Given the description of an element on the screen output the (x, y) to click on. 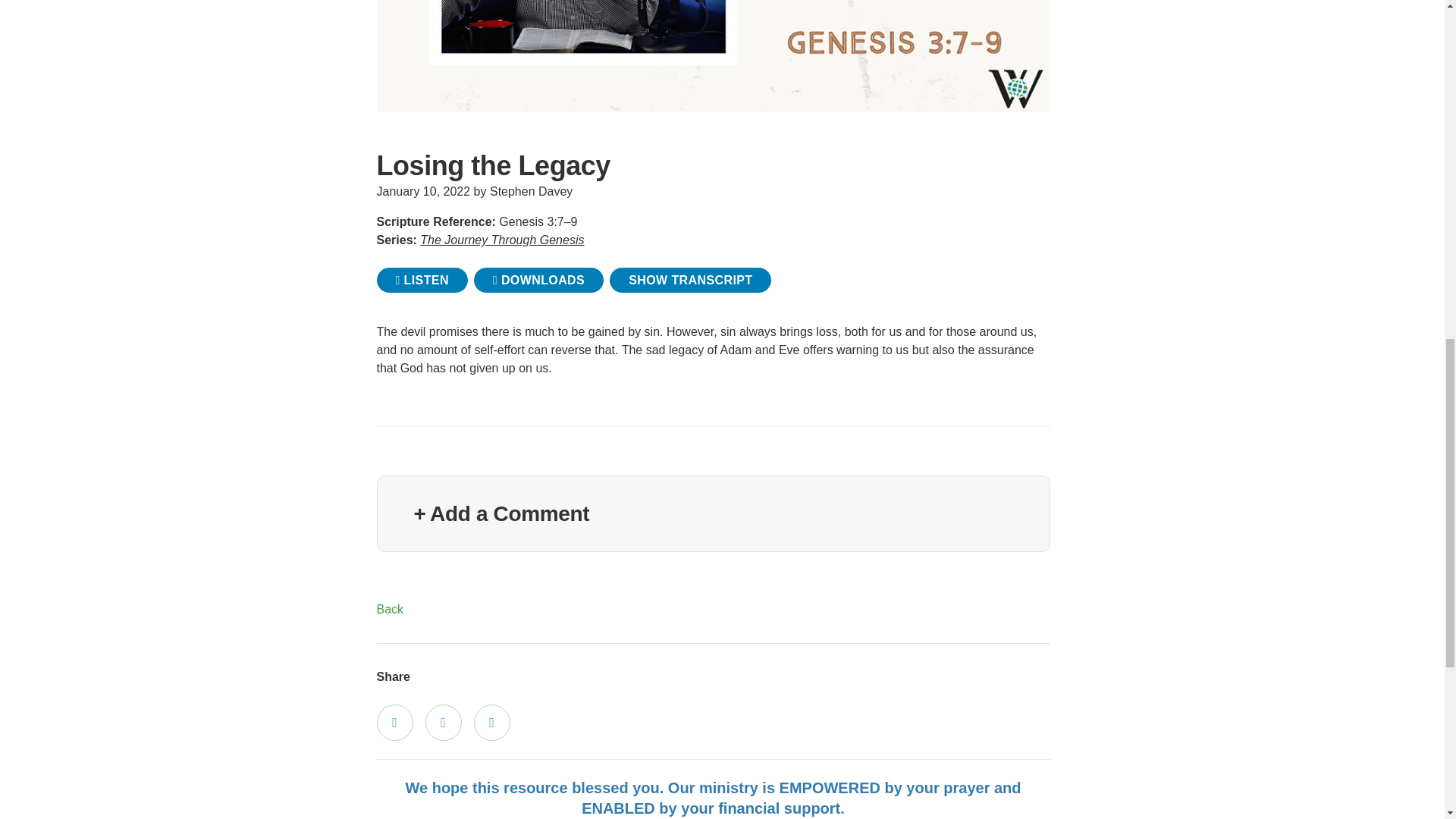
The Journey Through Genesis (501, 239)
Invite a Friend (491, 722)
SHOW TRANSCRIPT (690, 279)
LISTEN (421, 279)
Facebook (393, 722)
Back (389, 608)
DOWNLOADS (539, 279)
Twitter (443, 722)
